Given the description of an element on the screen output the (x, y) to click on. 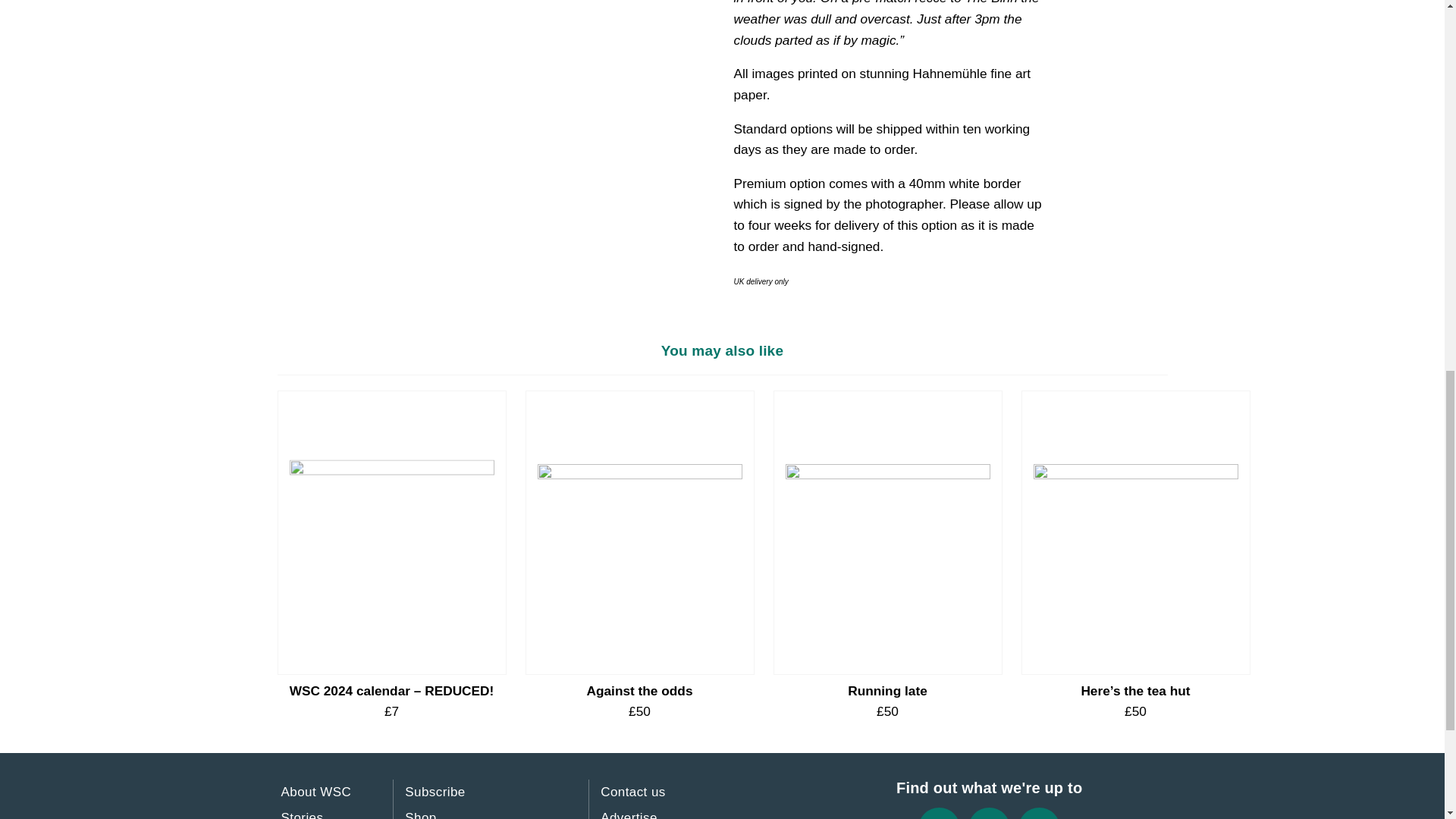
Shop (420, 812)
About WSC (316, 792)
Stories (302, 812)
Subscribe (434, 792)
